Given the description of an element on the screen output the (x, y) to click on. 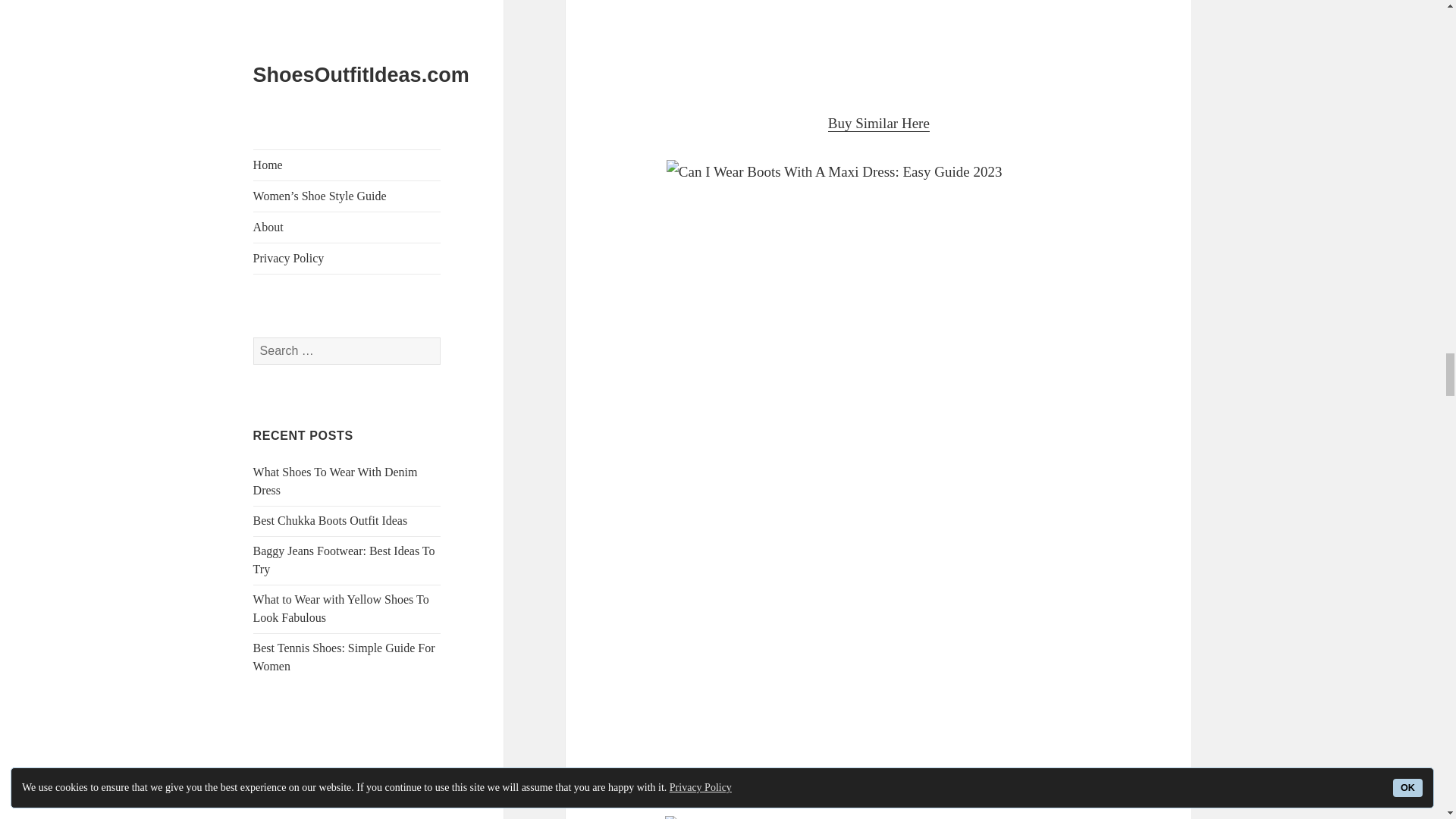
Buy Similar Here (879, 779)
Can I Wear Boots With A Maxi Dress: Easy Guide 2023 (879, 43)
Buy Similar Here (879, 123)
